Given the description of an element on the screen output the (x, y) to click on. 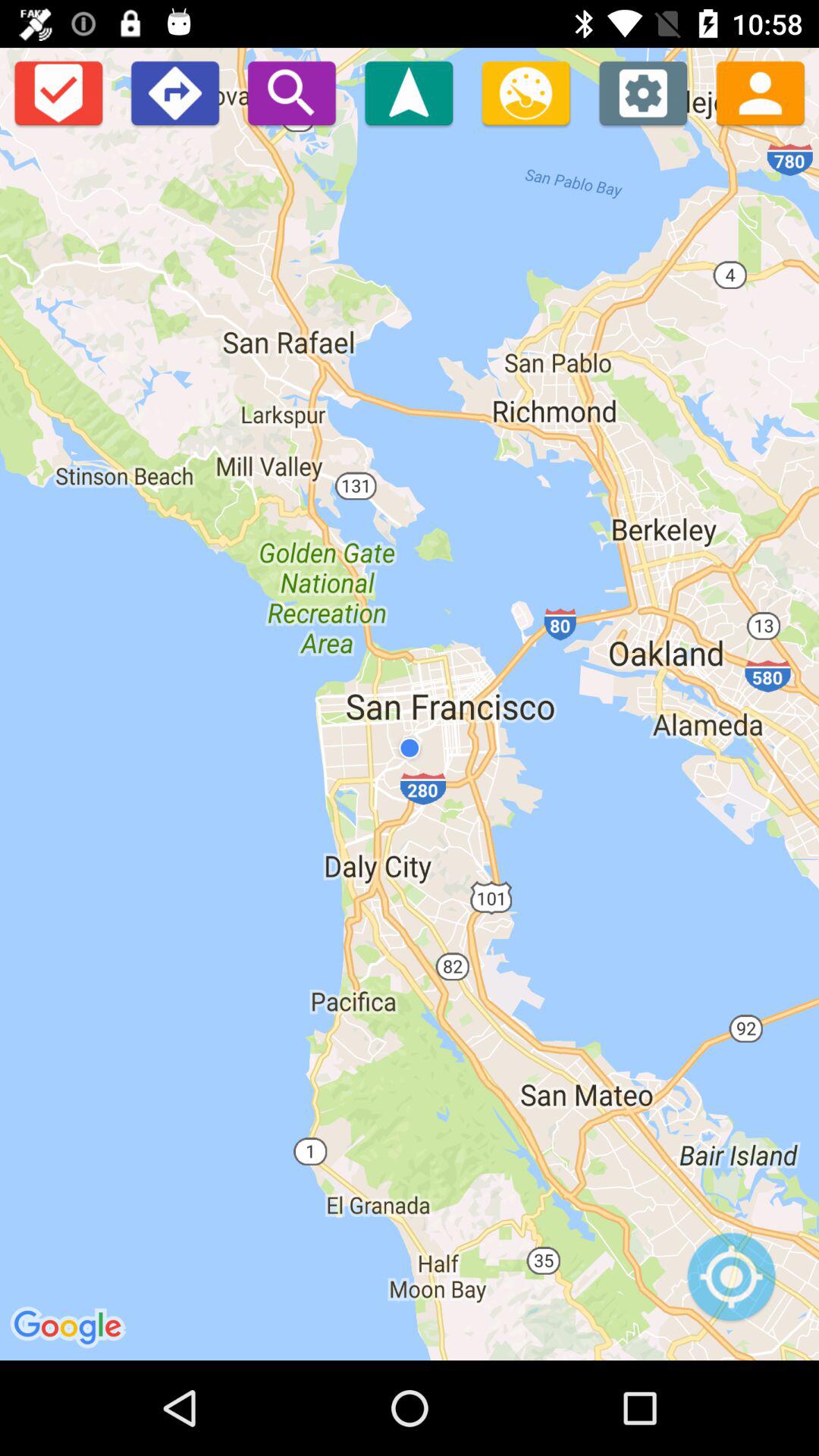
set route (174, 92)
